Given the description of an element on the screen output the (x, y) to click on. 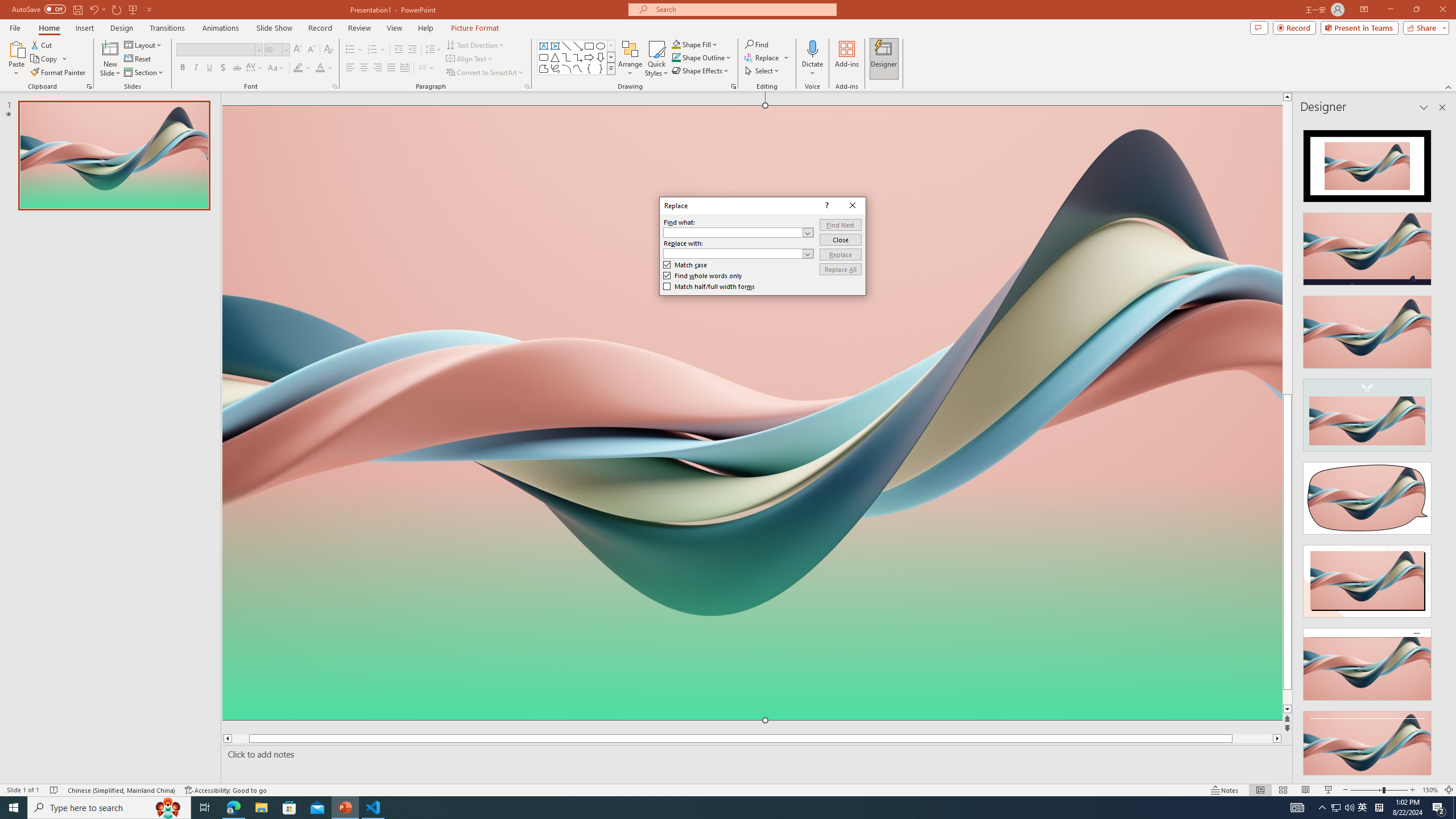
Find what (732, 232)
Decorative Locked (752, 579)
Zoom 150% (1430, 790)
